Given the description of an element on the screen output the (x, y) to click on. 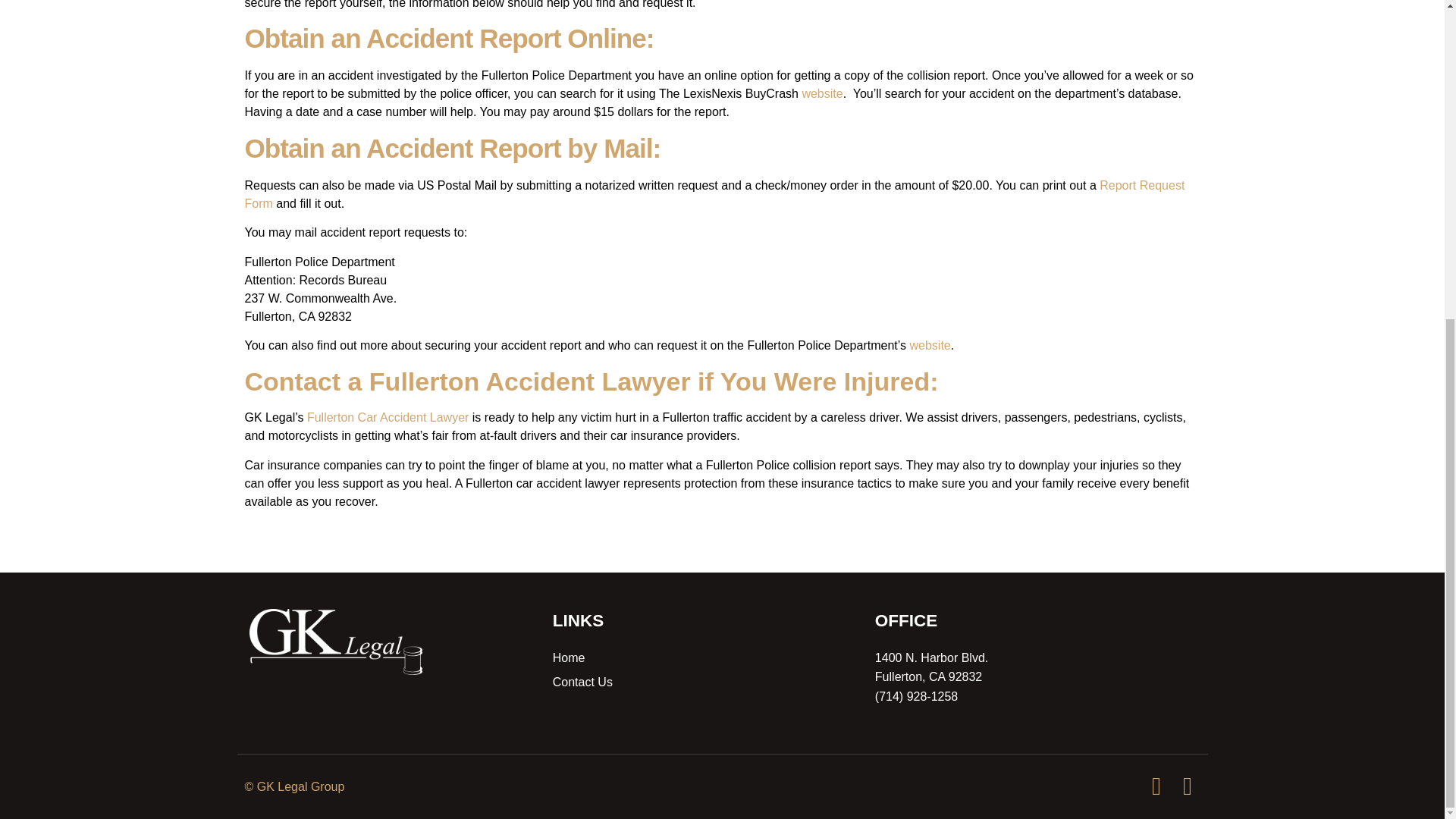
Report Request Form (714, 194)
website (822, 92)
Home (701, 658)
website (929, 345)
Fullerton Car Accident Lawyer (387, 417)
Contact Us (701, 682)
